Given the description of an element on the screen output the (x, y) to click on. 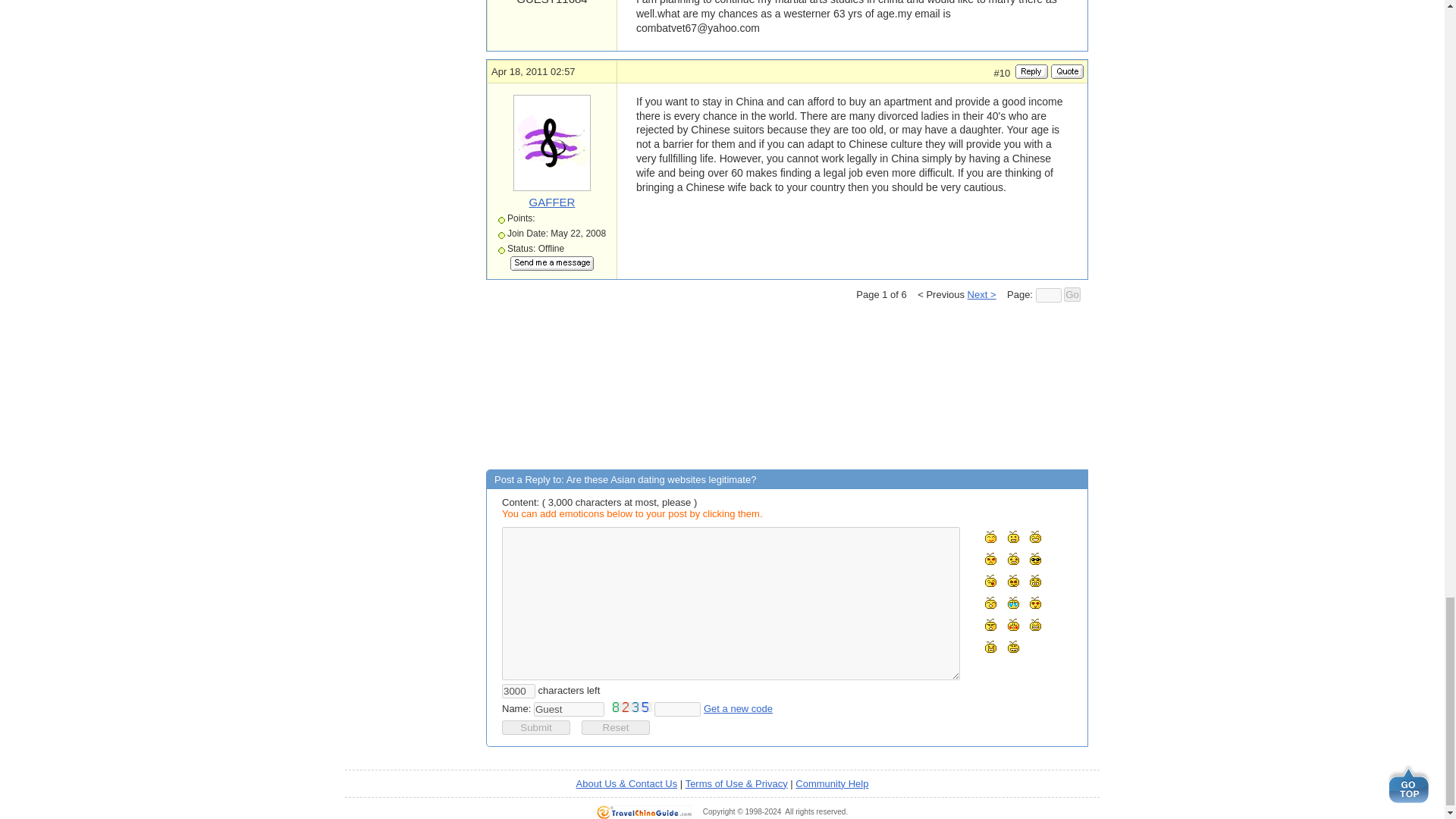
Submit (536, 727)
3000 (518, 690)
Reset (614, 727)
Guest (569, 708)
